Given the description of an element on the screen output the (x, y) to click on. 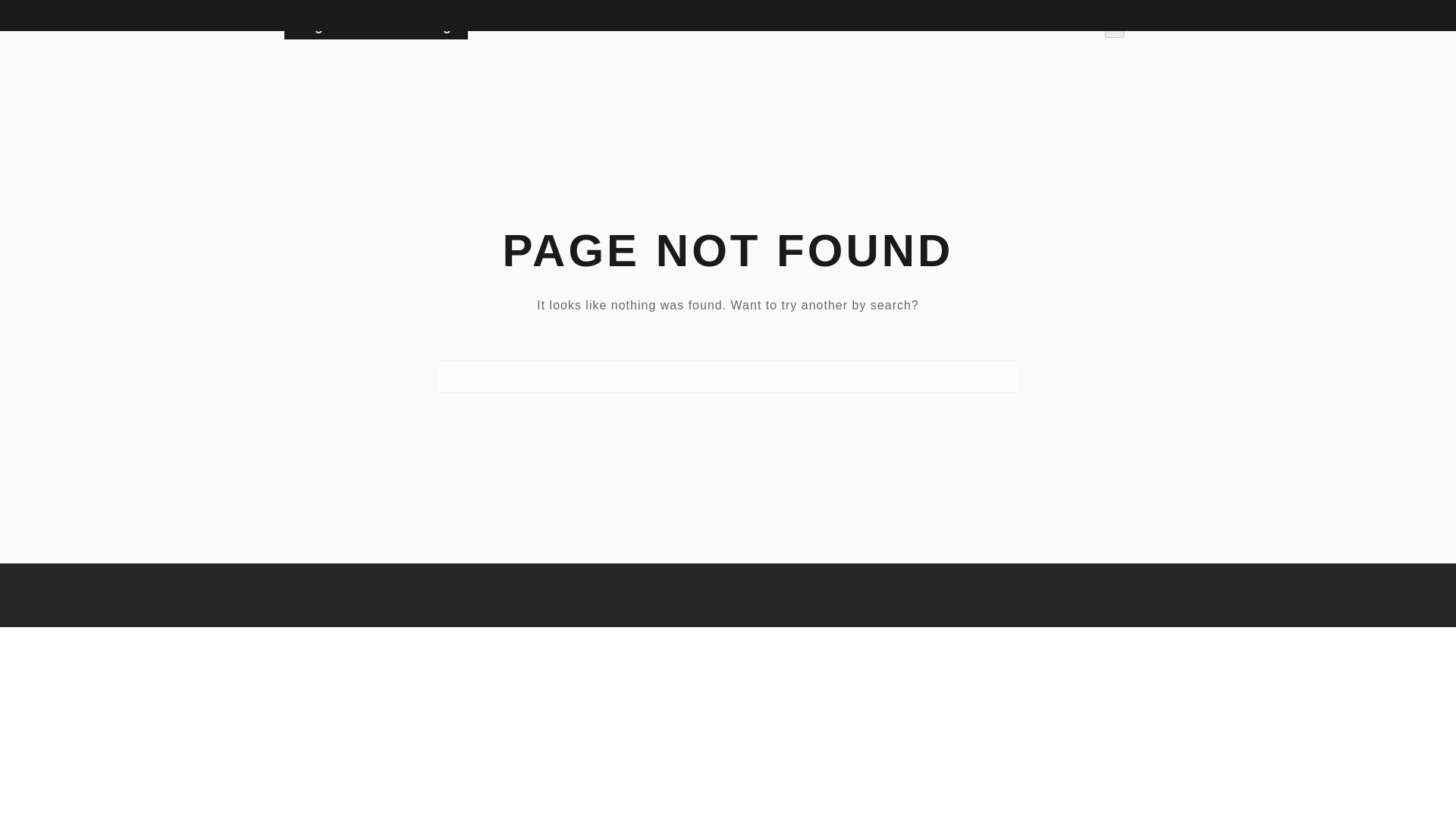
BLOG (1057, 25)
HOME (999, 25)
Search (113, 17)
Lightsaber Rattling (375, 25)
